Given the description of an element on the screen output the (x, y) to click on. 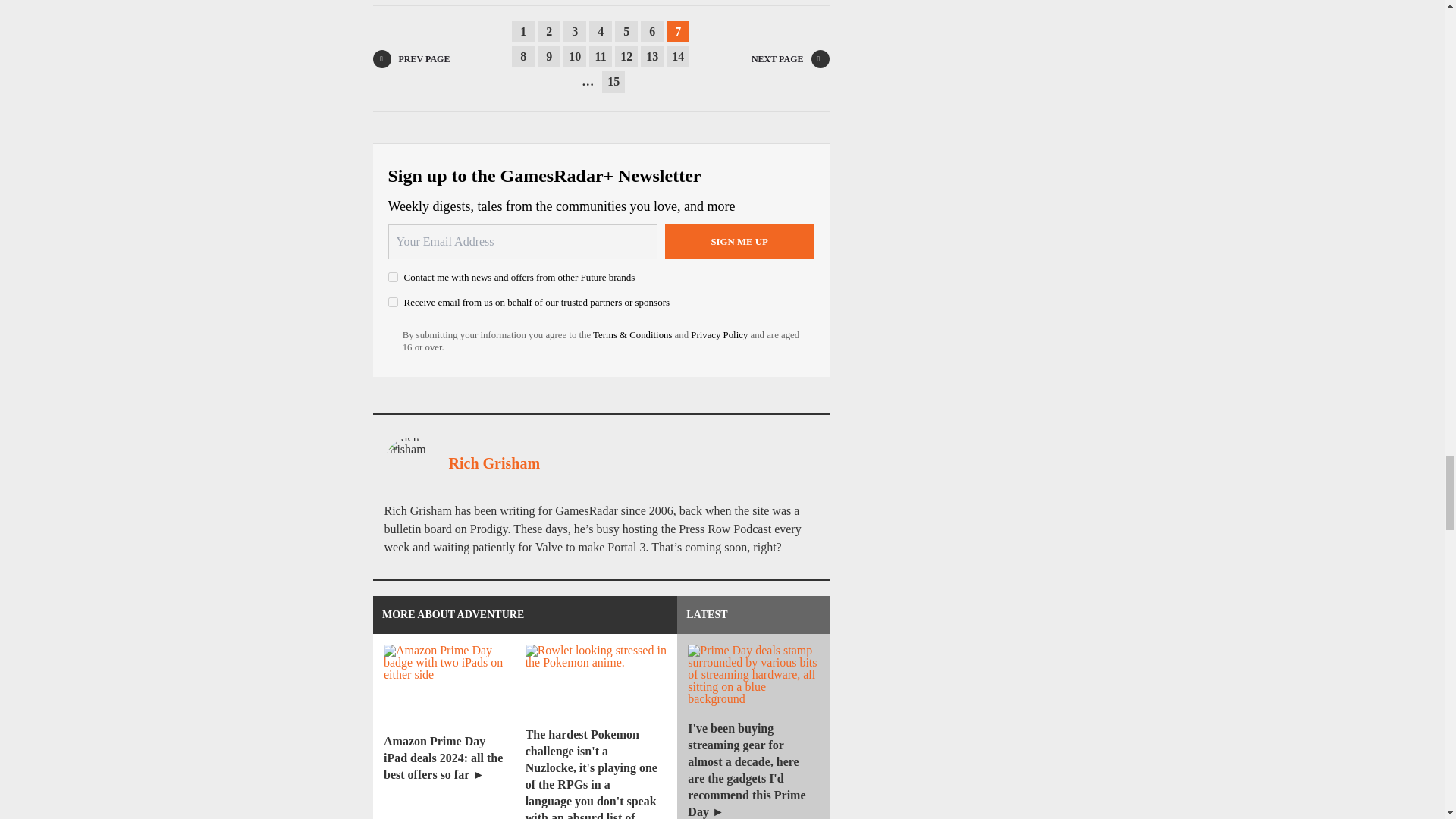
on (392, 302)
Sign me up (739, 241)
on (392, 276)
